Given the description of an element on the screen output the (x, y) to click on. 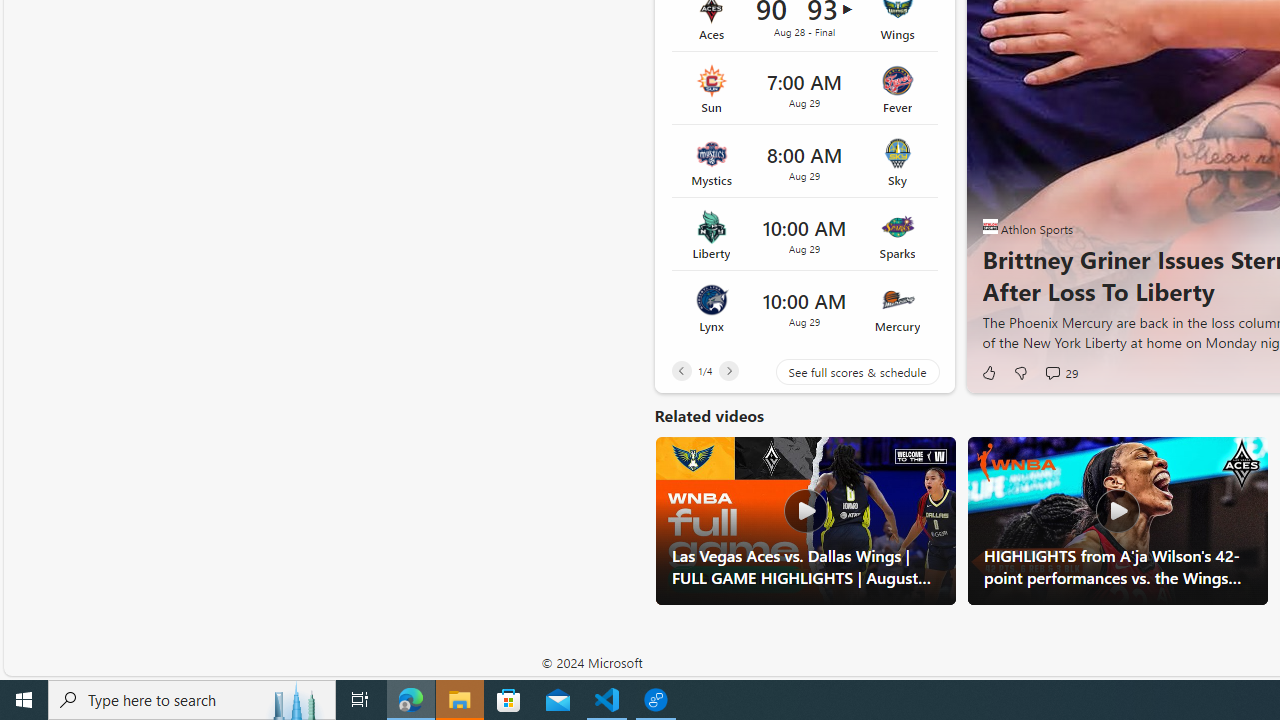
Sun vs Fever Time 7:00 AM Date Aug 29 (804, 88)
previous (992, 161)
Previous (681, 370)
View comments 29 Comment (1052, 372)
Next (728, 370)
View comments 29 Comment (1060, 372)
See full scores & schedule (842, 372)
Class: around-the-league-card (804, 307)
Liberty vs Sparks Time 10:00 AM Date Aug 29 (804, 235)
Like (987, 372)
Lynx vs Mercury Time 10:00 AM Date Aug 29 (804, 307)
Athlon Sports (989, 226)
Mystics vs Sky Time 8:00 AM Date Aug 29 (804, 161)
